Given the description of an element on the screen output the (x, y) to click on. 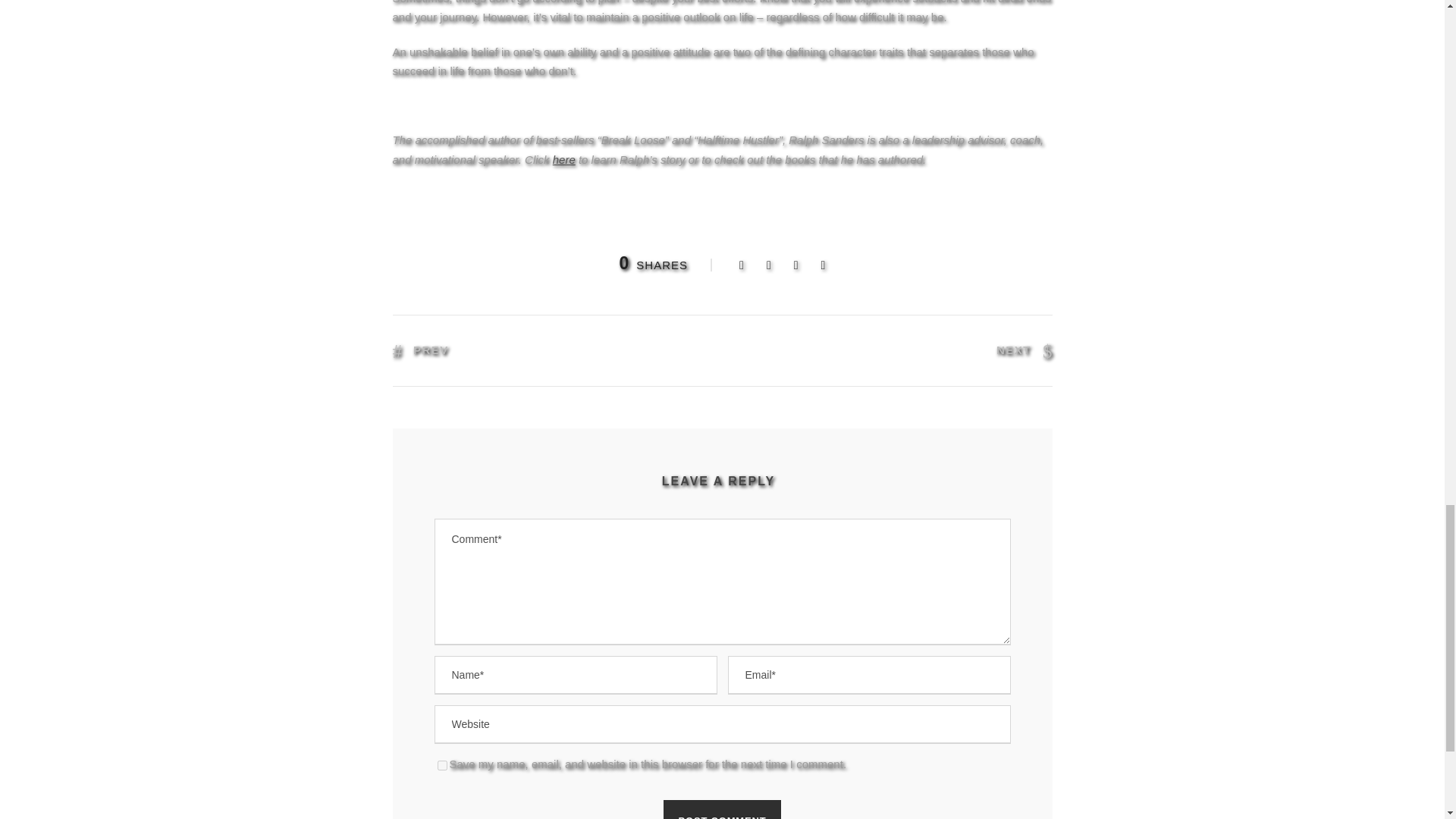
yes (441, 765)
here (564, 159)
Post Comment (722, 809)
